Given the description of an element on the screen output the (x, y) to click on. 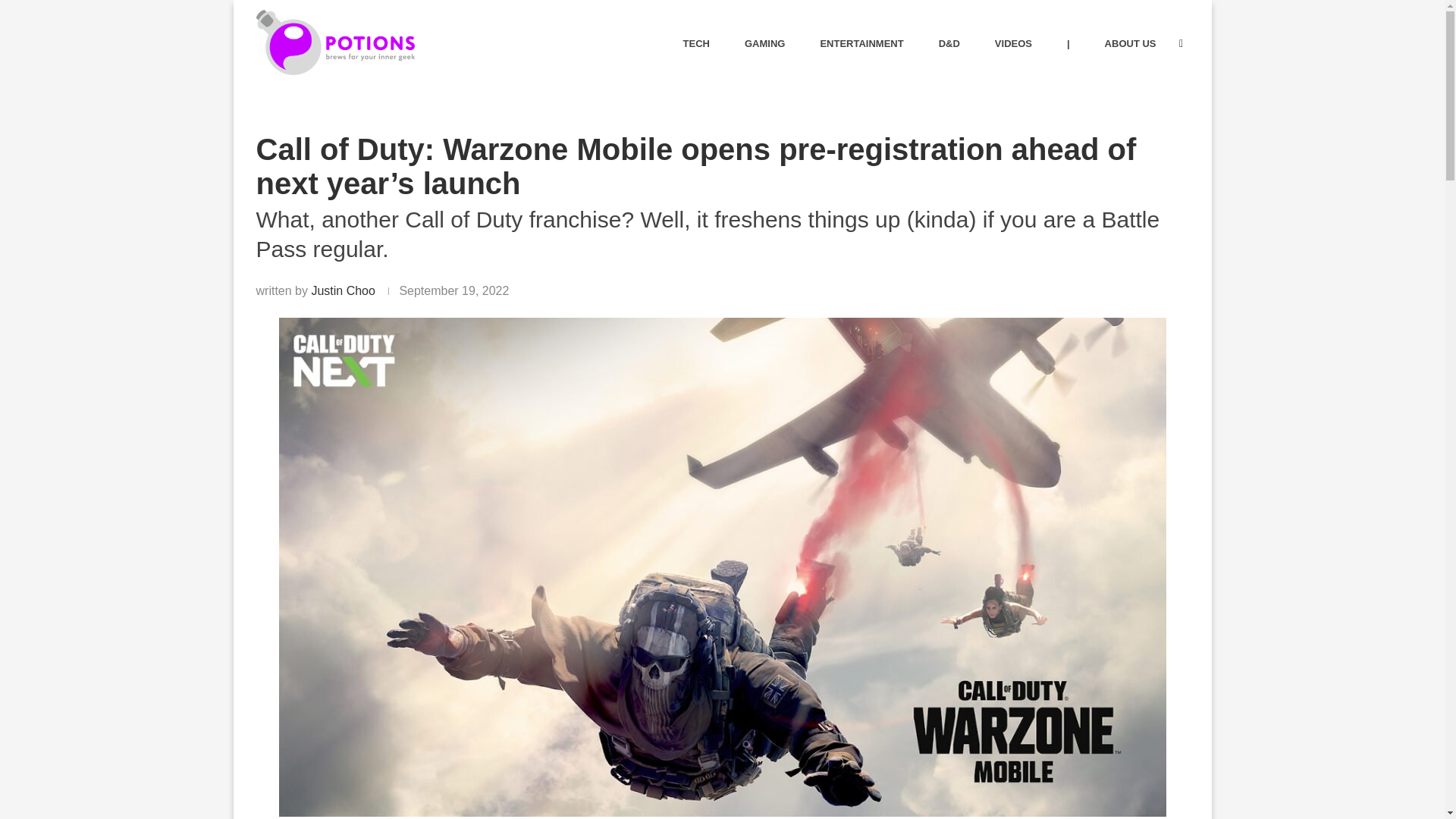
ENTERTAINMENT (860, 43)
Justin Choo (343, 290)
